Given the description of an element on the screen output the (x, y) to click on. 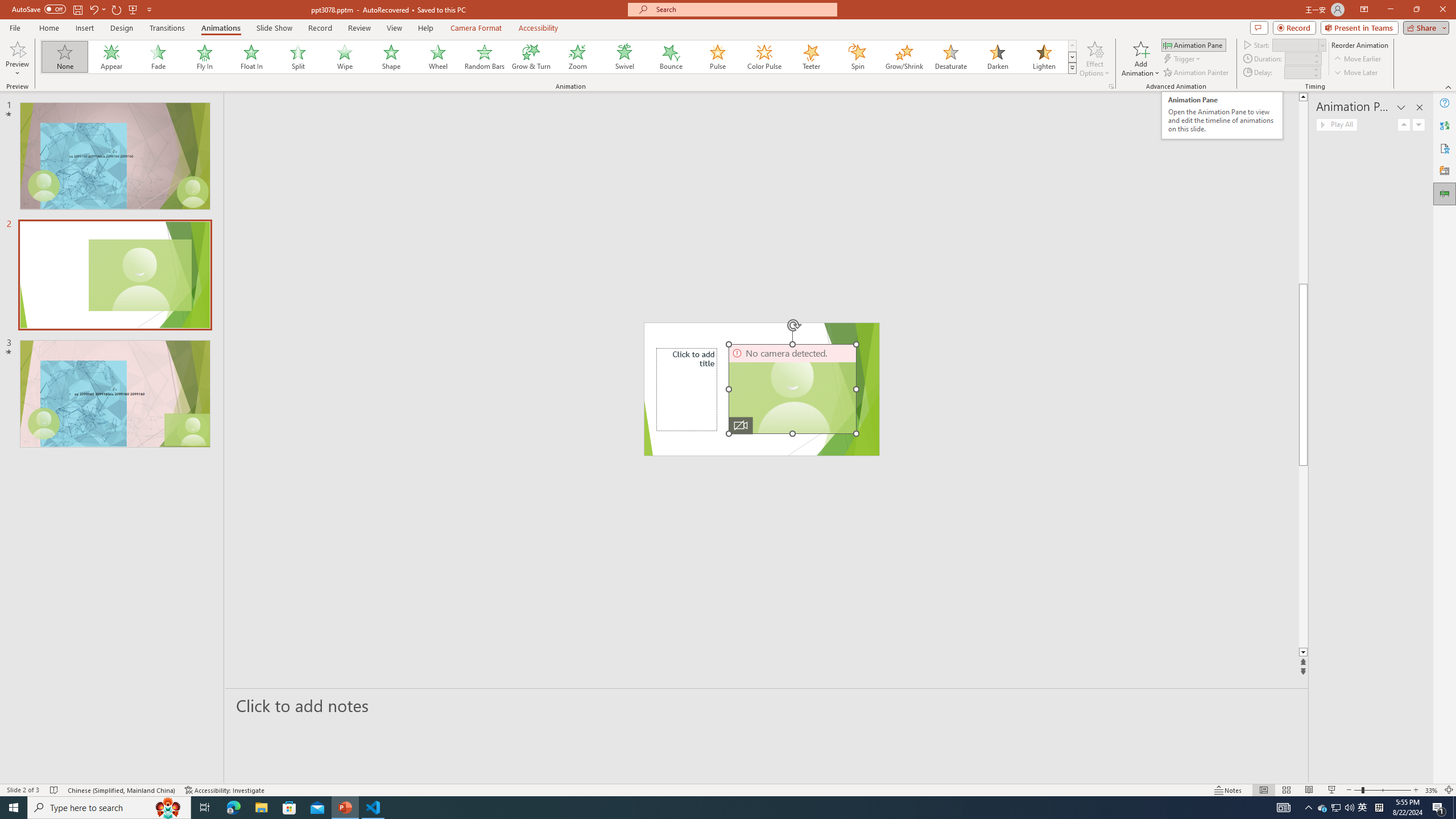
Grow/Shrink (903, 56)
Animation Pane (1193, 44)
Play All (1336, 124)
Zoom 33% (1431, 790)
Teeter (810, 56)
Move Later (1355, 72)
Trigger (1182, 58)
